Given the description of an element on the screen output the (x, y) to click on. 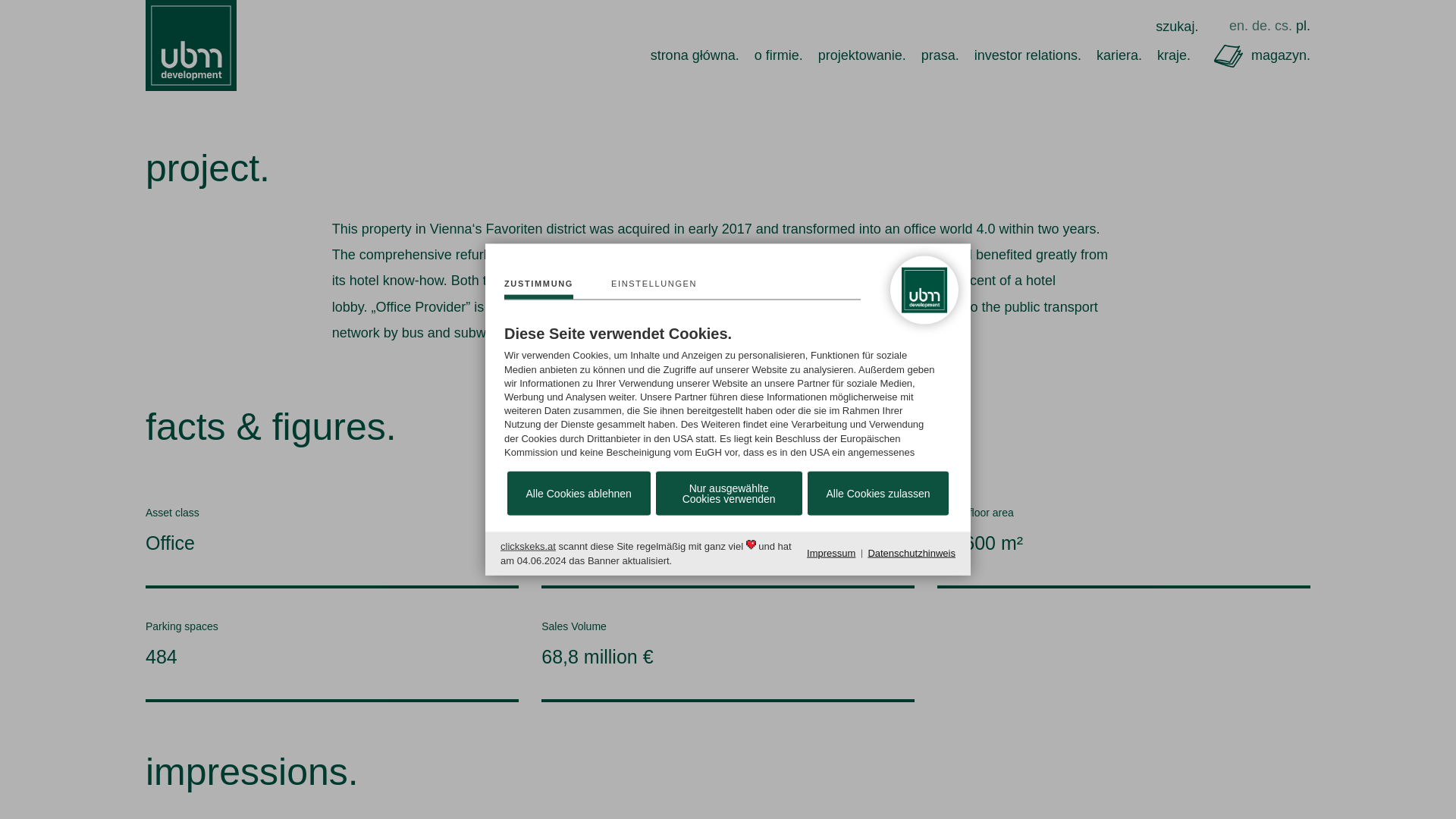
Details (654, 288)
investor relations. (1027, 55)
o firmie. (778, 55)
projektowanie. (861, 55)
clickskeks.at (528, 546)
prasa. (940, 55)
